Given the description of an element on the screen output the (x, y) to click on. 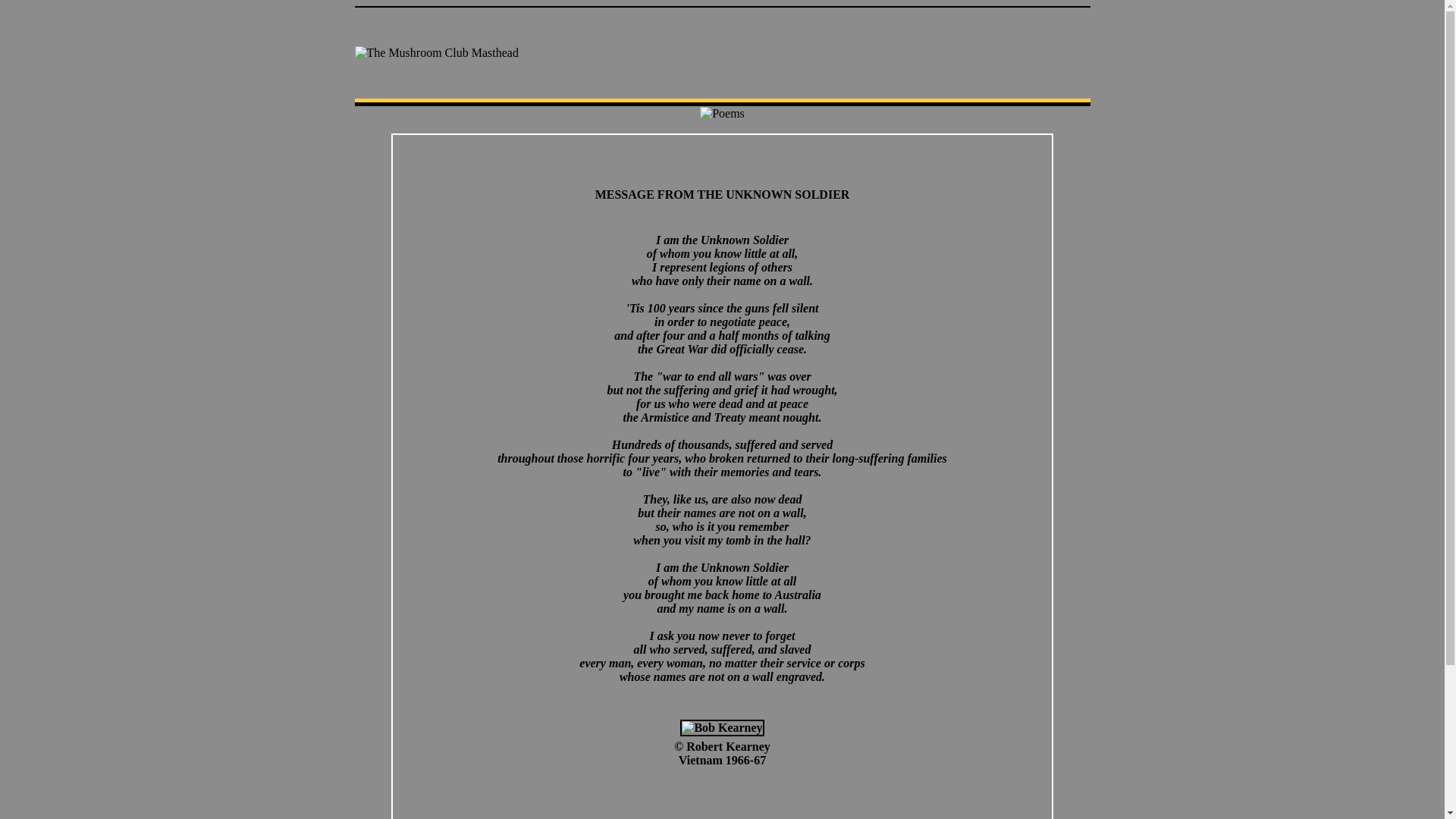
The Mushroom Club Masthead Element type: hover (436, 52)
Bob Kearney Element type: hover (721, 727)
